Given the description of an element on the screen output the (x, y) to click on. 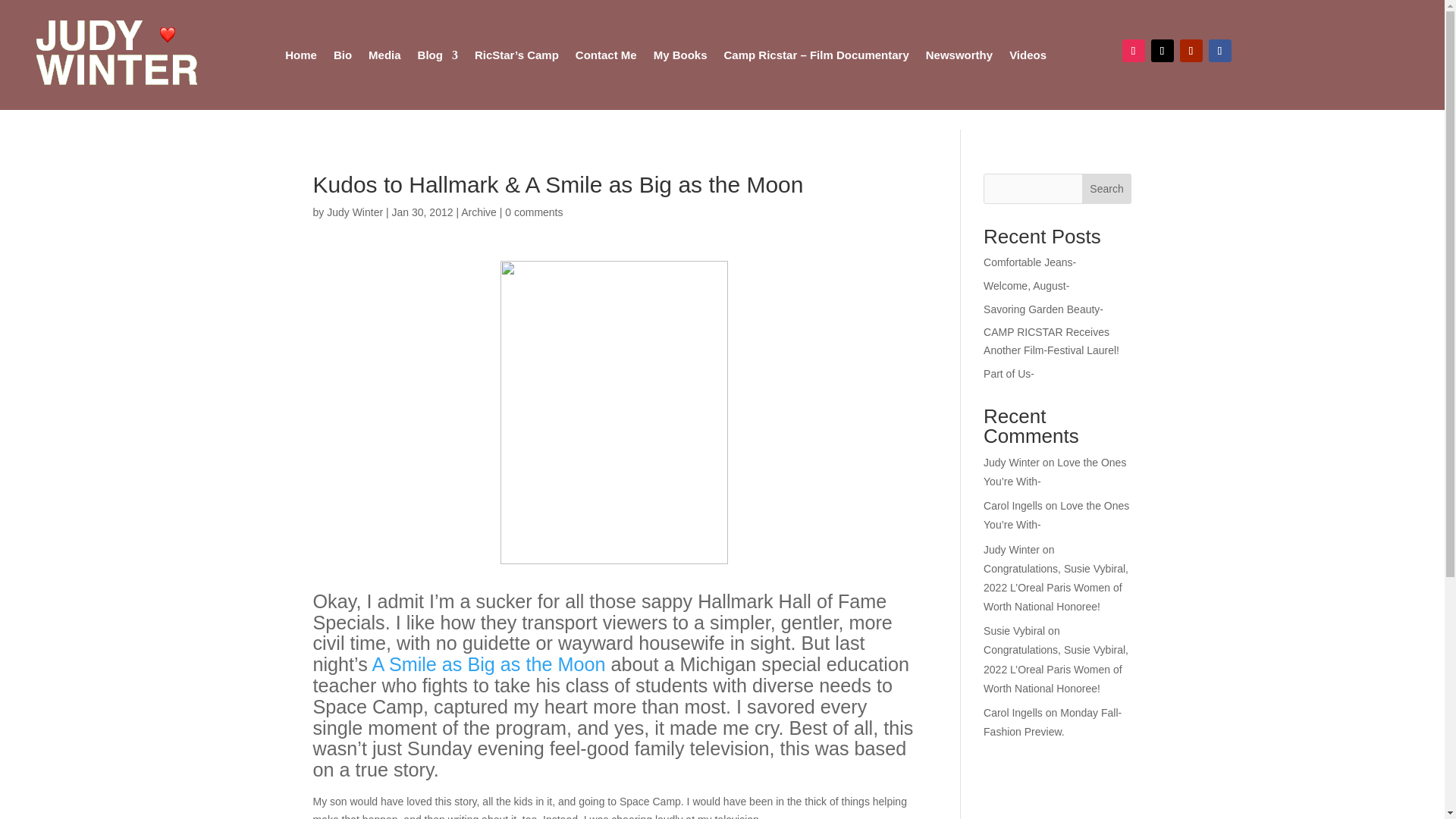
Newsworthy (959, 54)
Follow on Facebook (1219, 50)
Posts by Judy Winter (354, 212)
Follow on Instagram (1133, 50)
Follow on X (1162, 50)
Follow on Youtube (1190, 50)
Contact Me (606, 54)
